Given the description of an element on the screen output the (x, y) to click on. 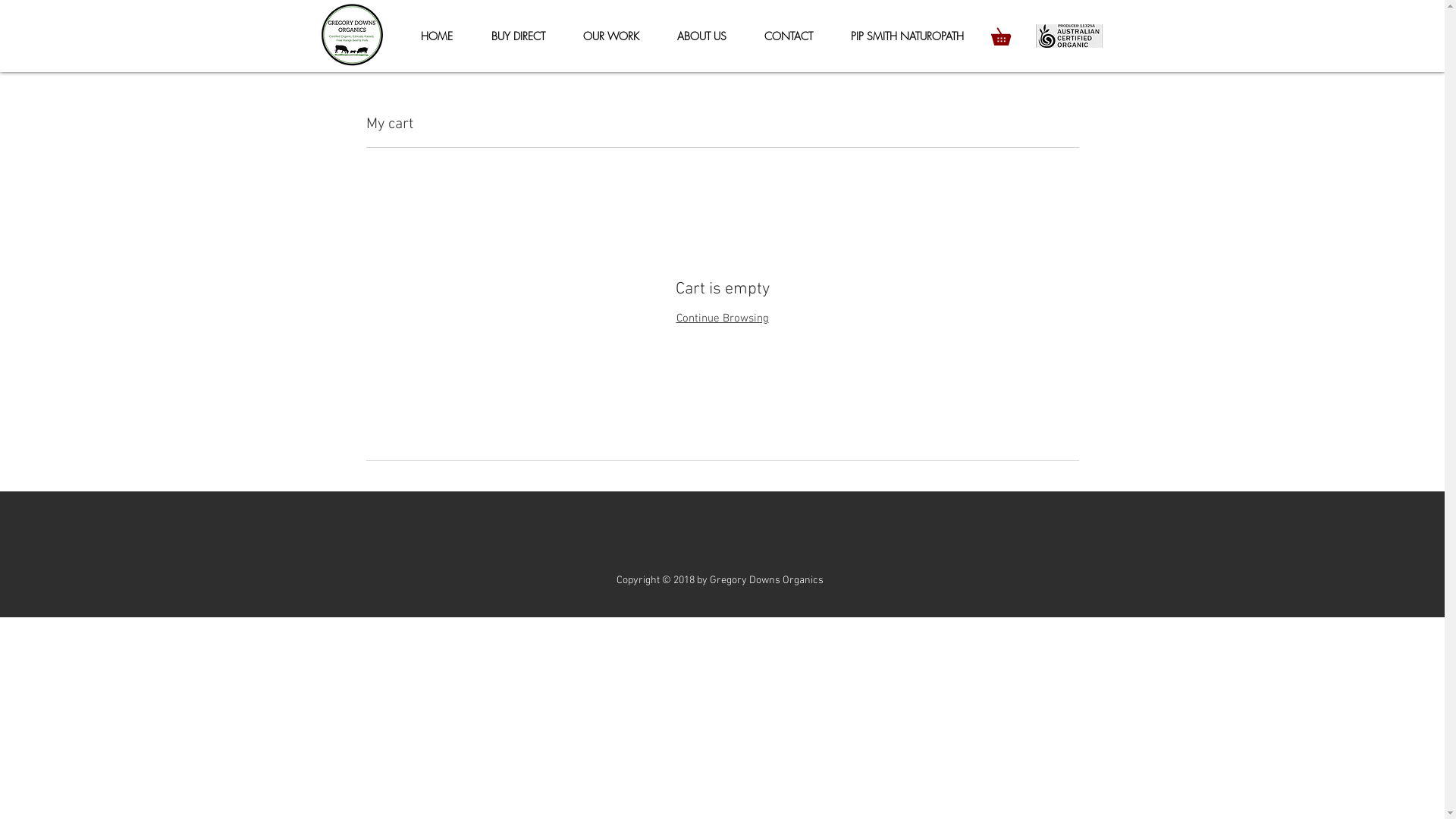
HOME Element type: text (436, 35)
OUR WORK Element type: text (611, 35)
BUY DIRECT Element type: text (517, 35)
Continue Browsing Element type: text (722, 318)
ABOUT US Element type: text (701, 35)
PIP SMITH NATUROPATH Element type: text (906, 35)
CONTACT Element type: text (787, 35)
0 Element type: text (1008, 33)
